Given the description of an element on the screen output the (x, y) to click on. 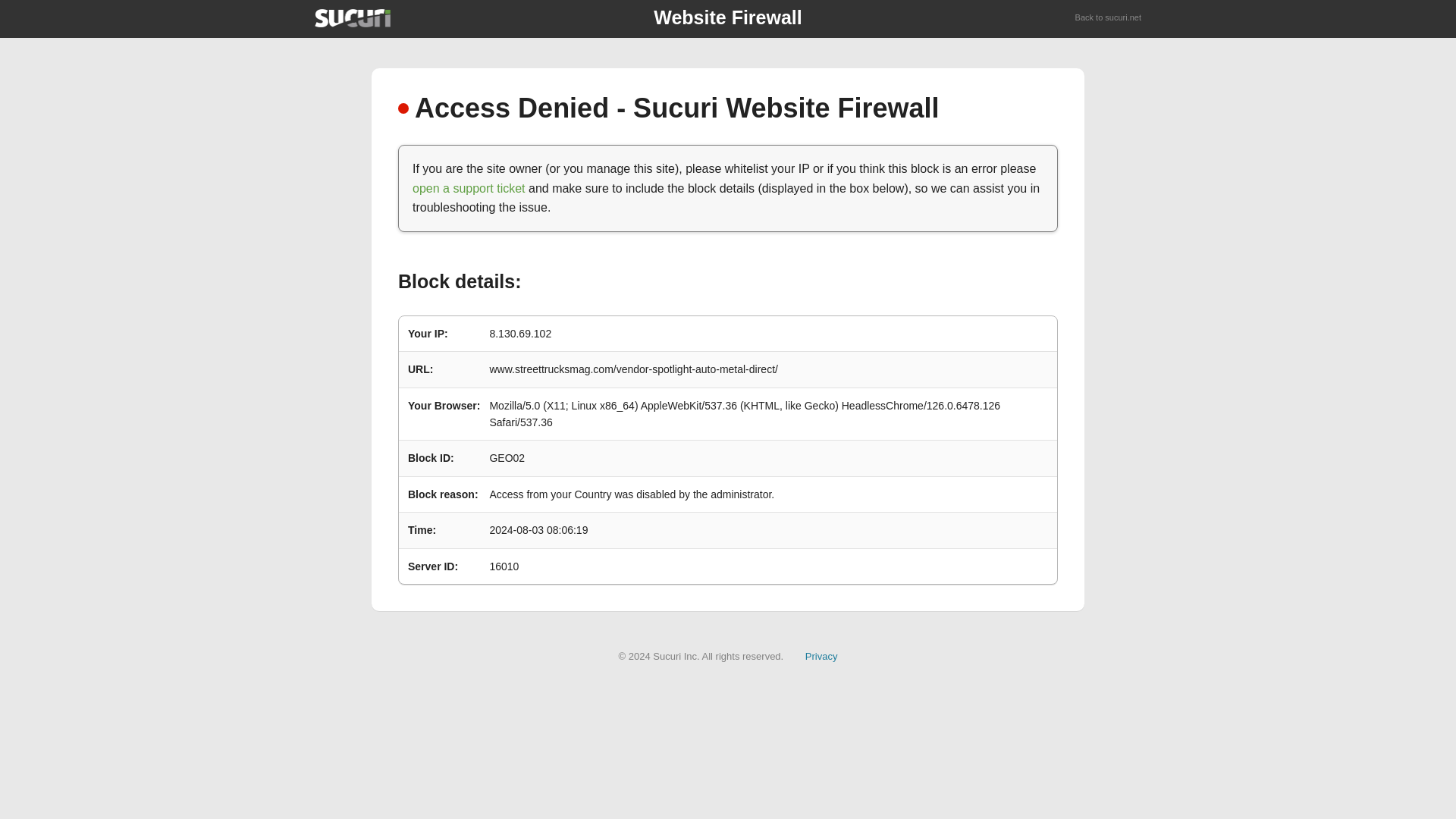
open a support ticket (468, 187)
Privacy (821, 655)
Back to sucuri.net (1108, 18)
